Given the description of an element on the screen output the (x, y) to click on. 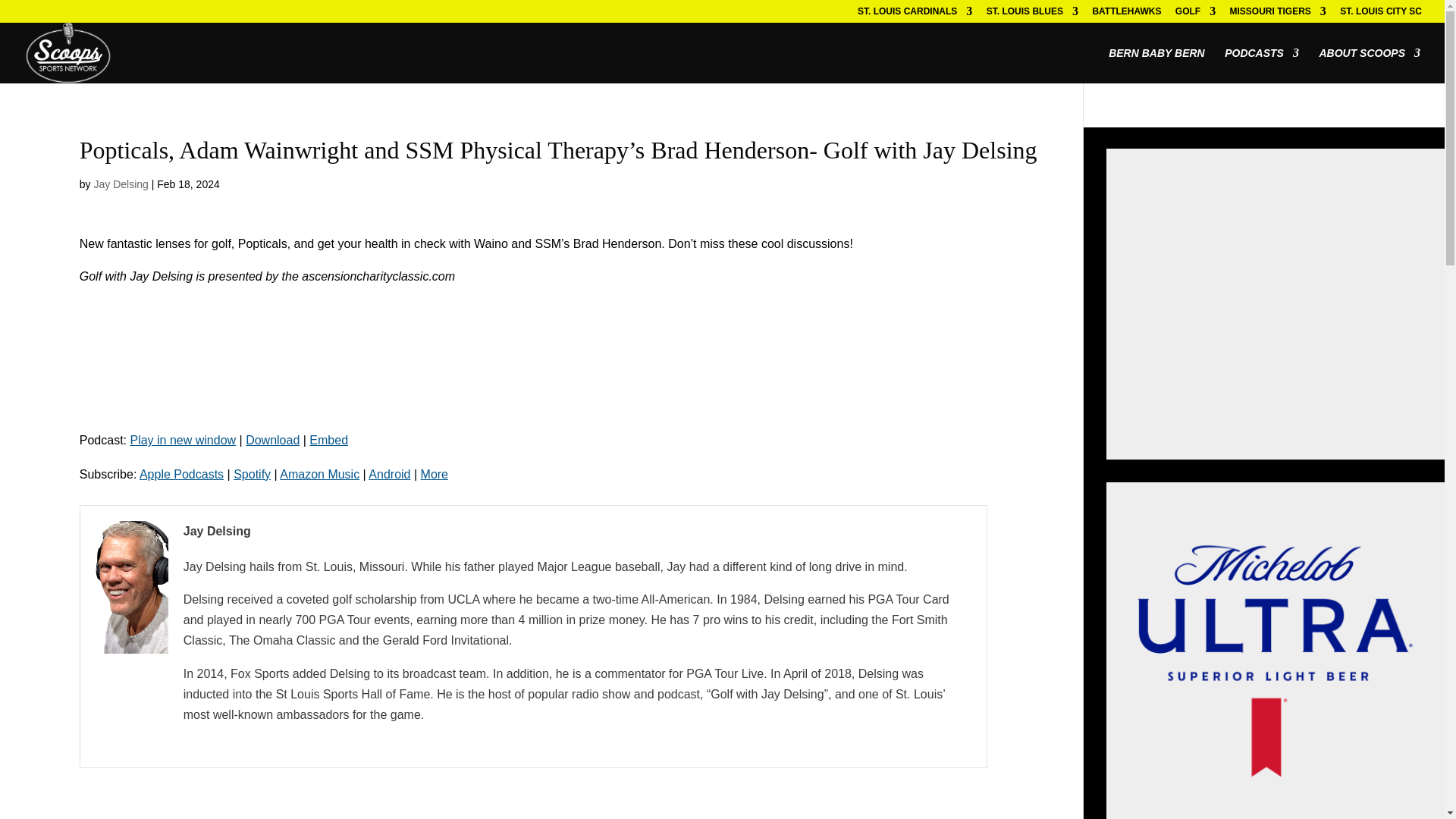
ABOUT SCOOPS (1370, 65)
Blubrry Podcast Player (560, 361)
Subscribe on Amazon Music (319, 473)
ST. LOUIS CITY SC (1380, 14)
Subscribe on Apple Podcasts (181, 473)
Subscribe on Spotify (251, 473)
BATTLEHAWKS (1126, 14)
Play in new window (182, 440)
Subscribe on Android (389, 473)
Posts by Jay Delsing (120, 184)
ST. LOUIS BLUES (1032, 14)
Download (272, 440)
ST. LOUIS CARDINALS (914, 14)
More (434, 473)
MISSOURI TIGERS (1278, 14)
